Given the description of an element on the screen output the (x, y) to click on. 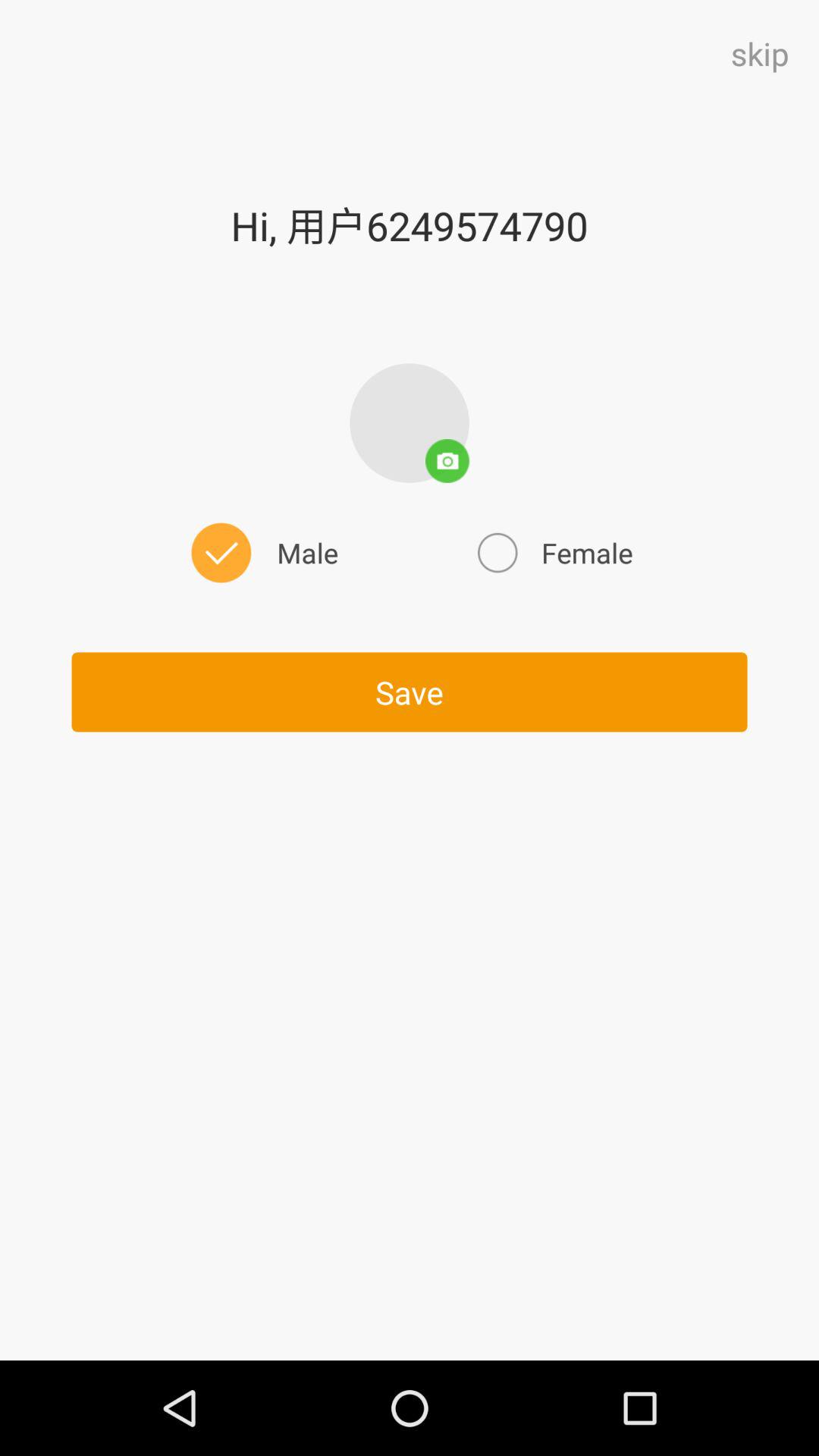
turn off female on the right (553, 552)
